Given the description of an element on the screen output the (x, y) to click on. 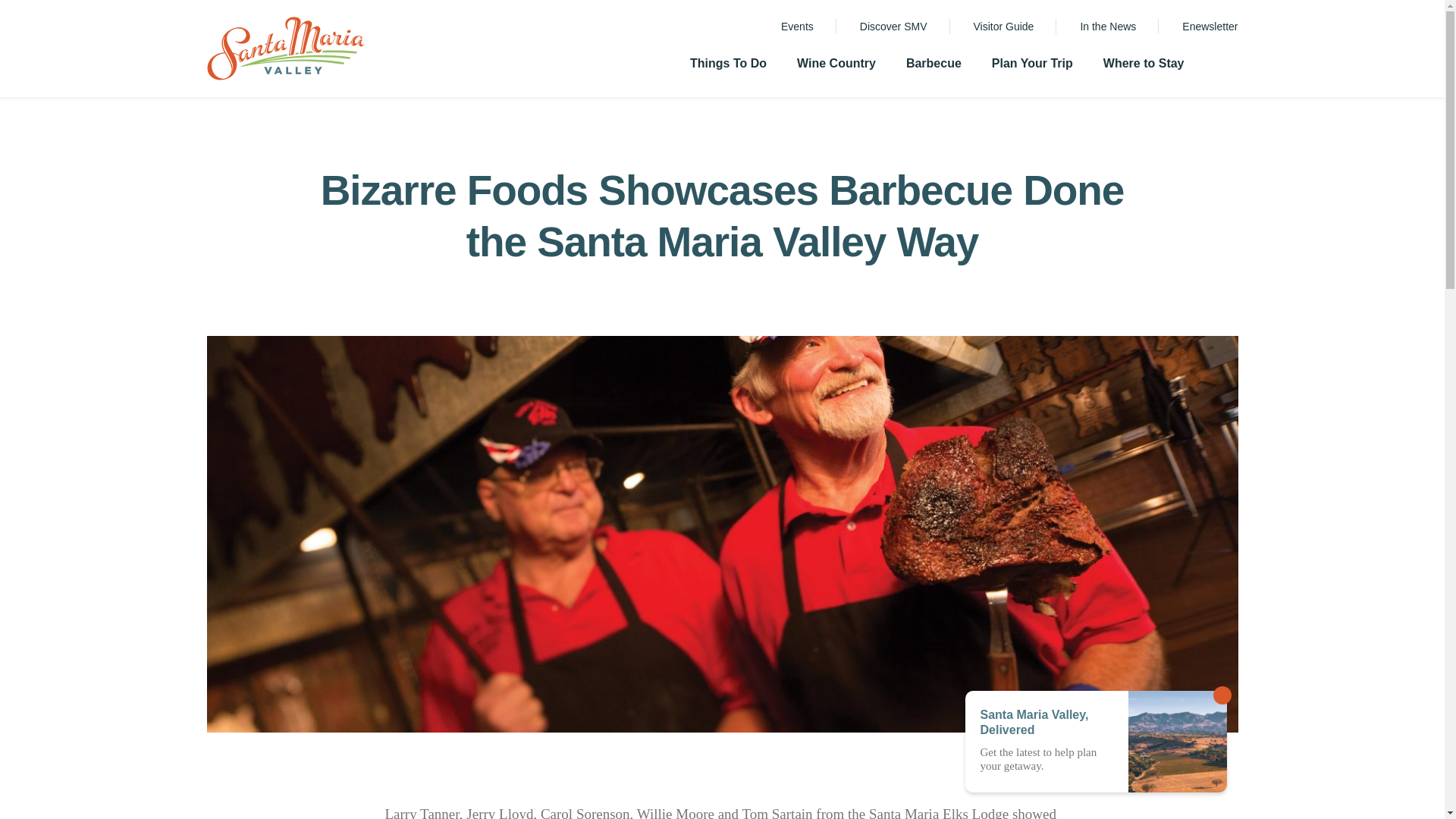
Things To Do (727, 67)
Discover SMV (893, 26)
Visitor Guide (1003, 26)
Barbecue (933, 67)
Events (796, 26)
Wine Country (836, 67)
In the News (1107, 26)
Enewsletter (1209, 26)
